Given the description of an element on the screen output the (x, y) to click on. 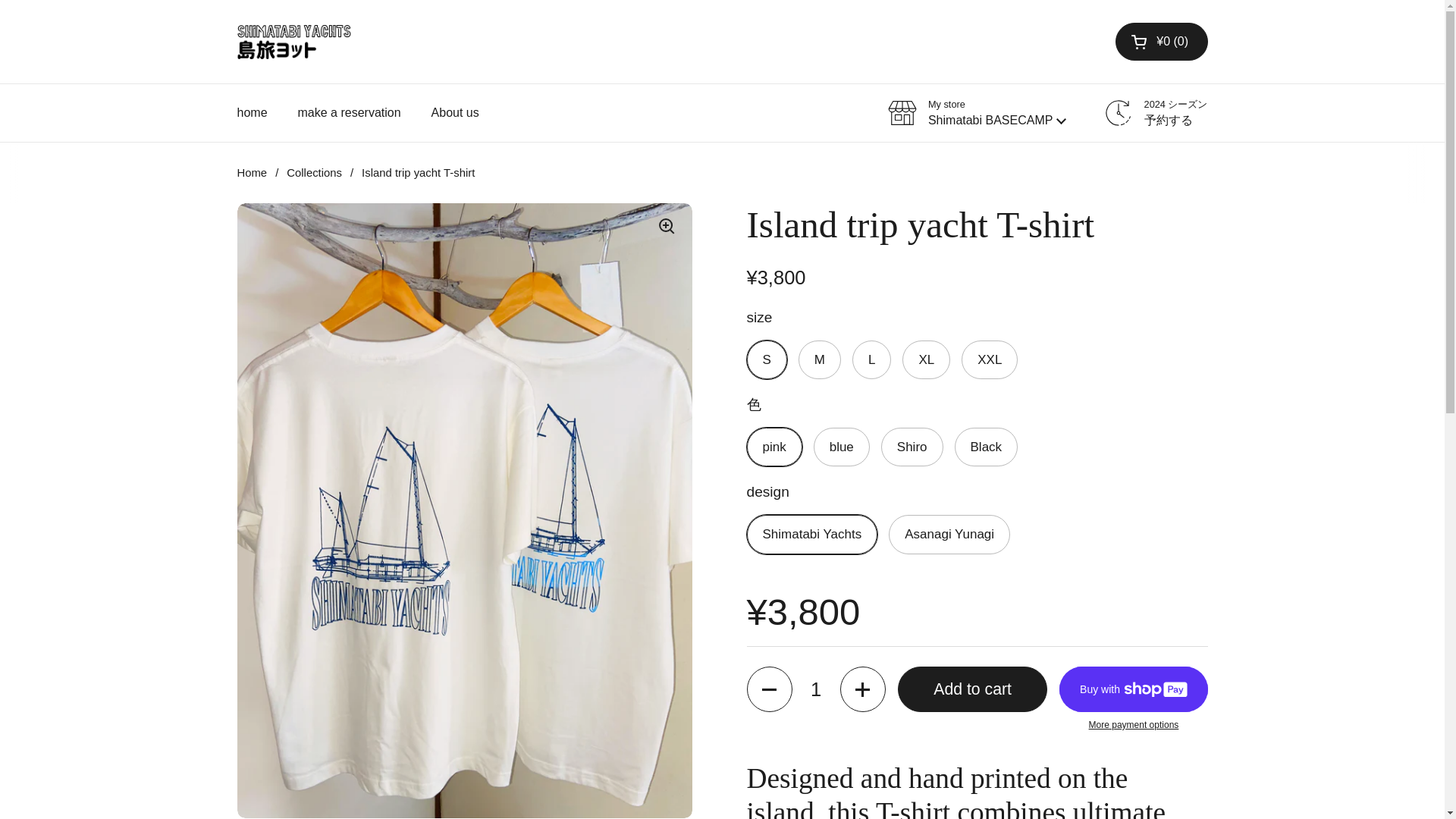
home (251, 112)
About us (455, 112)
home (251, 112)
About us (455, 112)
Add to cart (973, 688)
1 (815, 688)
Open cart (1161, 41)
Collections (314, 173)
More payment options (1133, 725)
Home (250, 173)
